Given the description of an element on the screen output the (x, y) to click on. 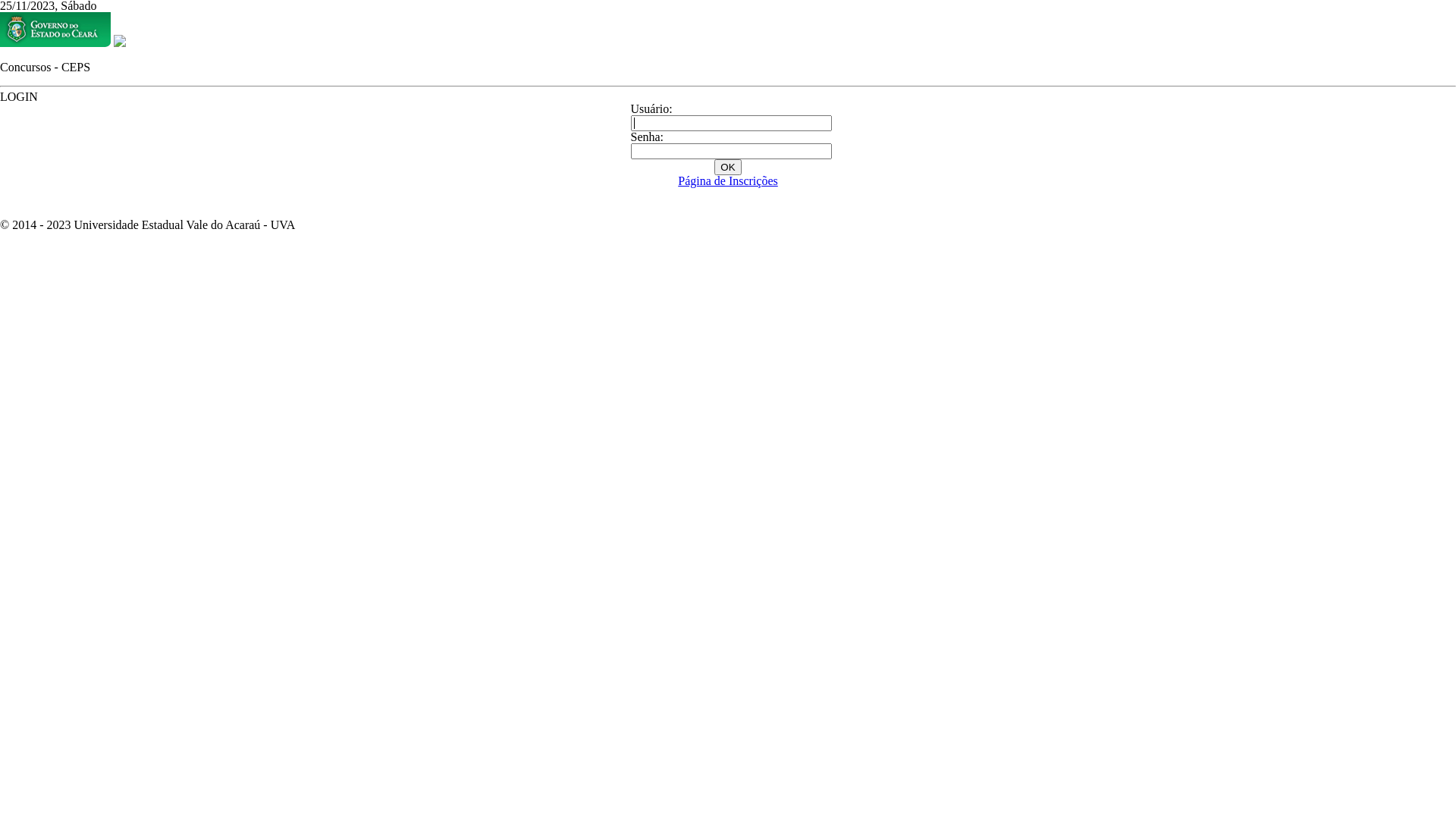
OK Element type: text (727, 167)
